Given the description of an element on the screen output the (x, y) to click on. 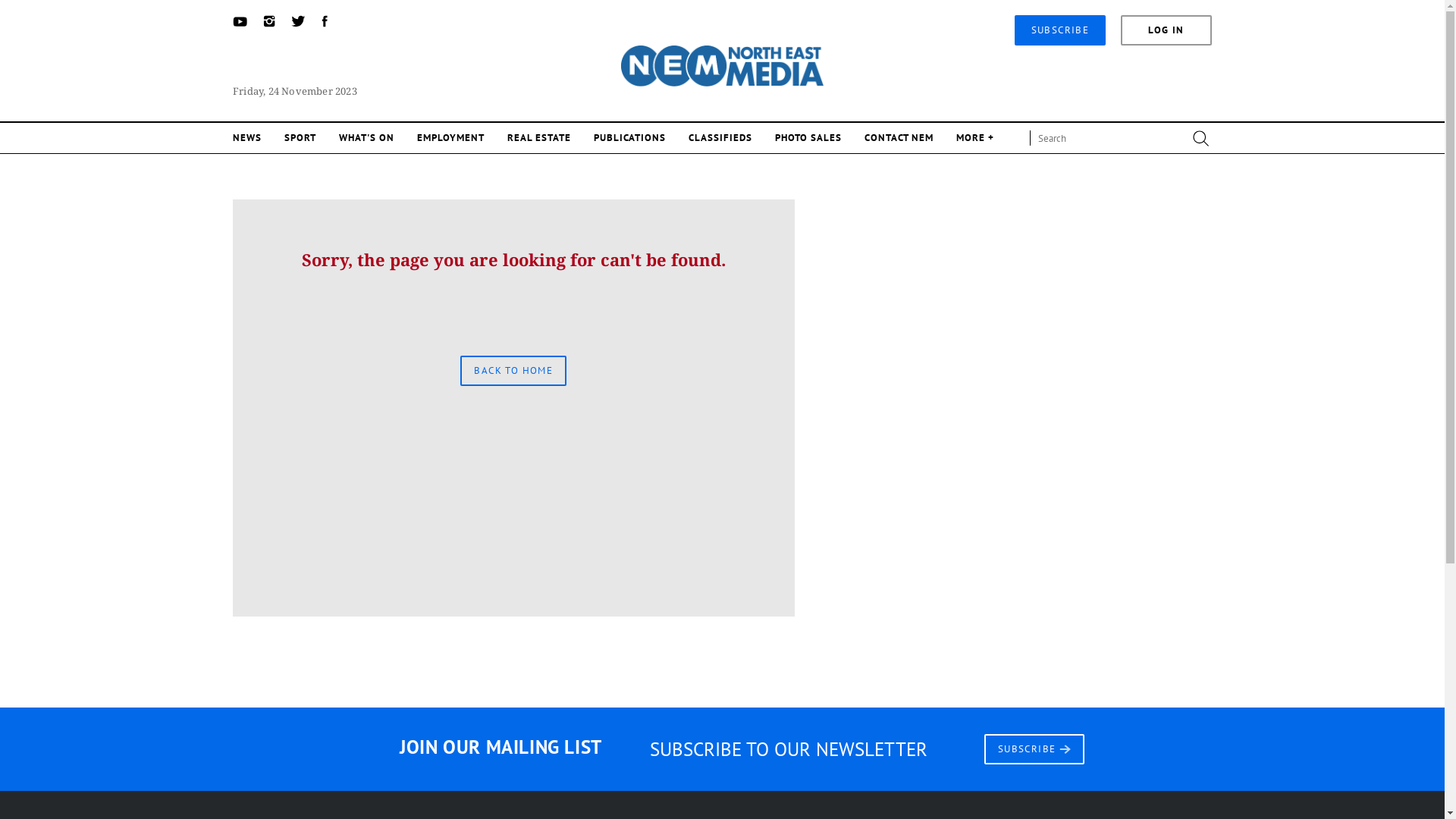
SUBSCRIBE Element type: text (1034, 747)
CLASSIFIEDS Element type: text (720, 137)
BACK TO HOME Element type: text (513, 370)
NEWS Element type: text (246, 137)
MORE + Element type: text (975, 137)
REAL ESTATE Element type: text (539, 137)
PUBLICATIONS Element type: text (629, 137)
WHAT'S ON Element type: text (366, 137)
EMPLOYMENT Element type: text (450, 137)
SPORT Element type: text (300, 137)
CONTACT NEM Element type: text (898, 137)
PHOTO SALES Element type: text (808, 137)
